Given the description of an element on the screen output the (x, y) to click on. 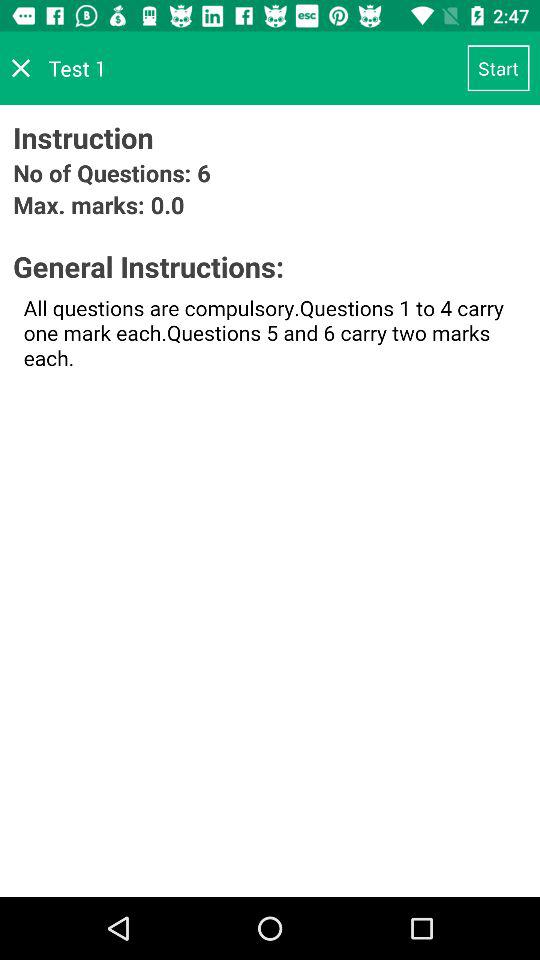
cancel option (21, 68)
